Given the description of an element on the screen output the (x, y) to click on. 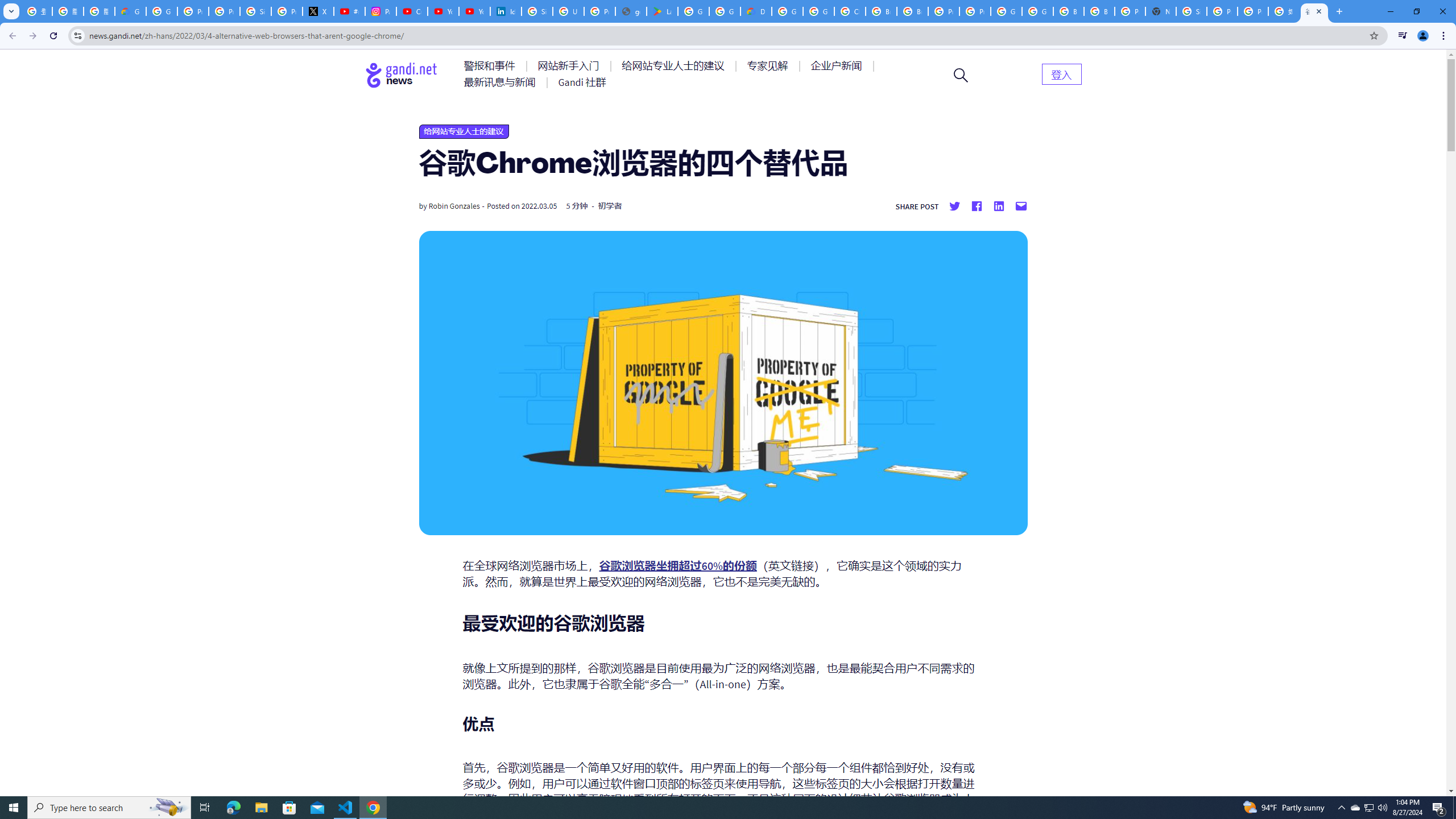
Open search form (960, 74)
Privacy Help Center - Policies Help (223, 11)
X (318, 11)
google_privacy_policy_en.pdf (631, 11)
